Given the description of an element on the screen output the (x, y) to click on. 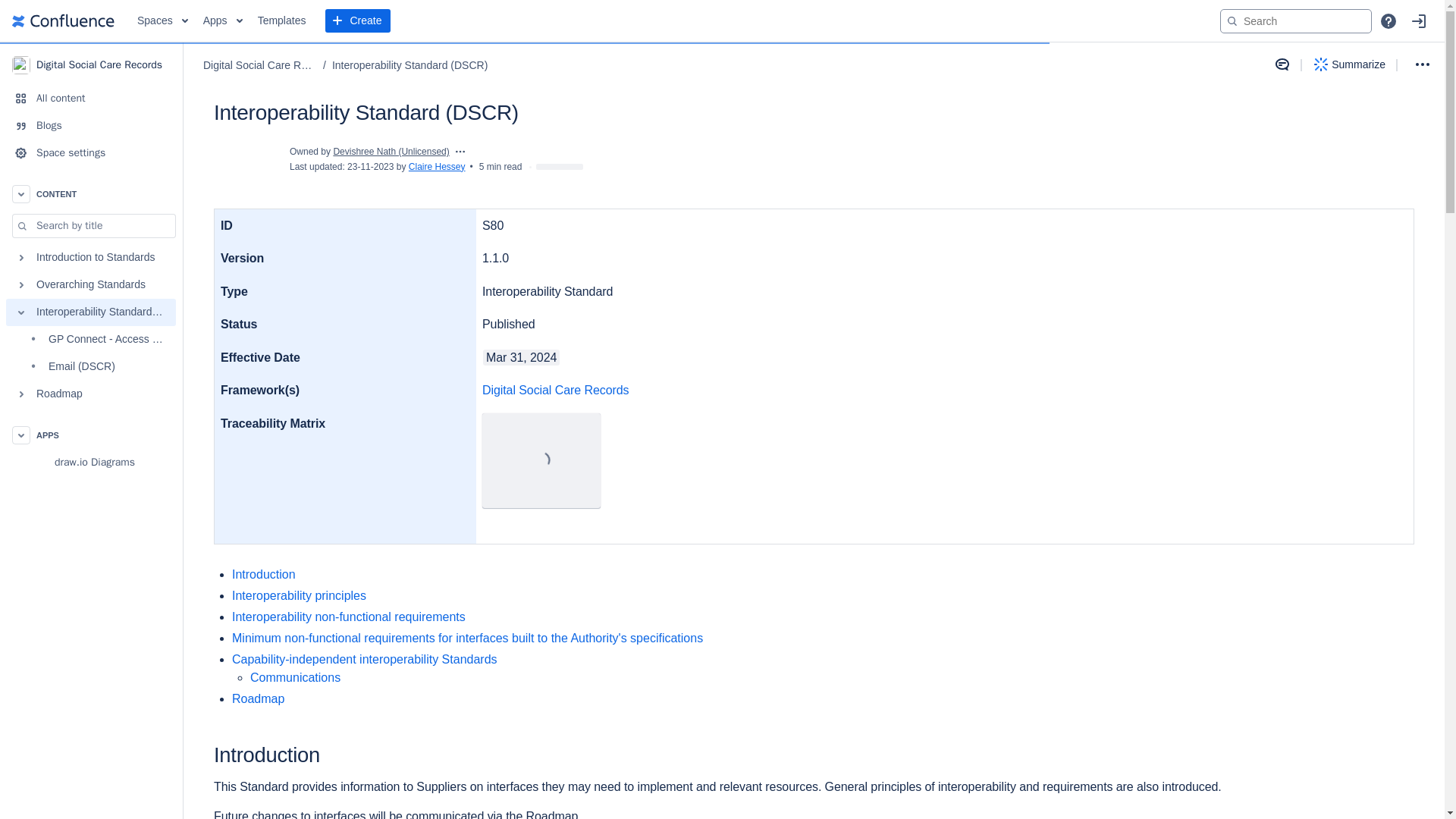
Digital Social Care Records (260, 64)
draw.io Diagrams (90, 461)
CONTENT (90, 194)
Space settings (90, 153)
Summarize (1349, 64)
Digital Social Care Records (554, 390)
Digital Social Care Records (90, 64)
APPS (90, 434)
Blogs (90, 125)
Roadmap (90, 393)
Introduction (263, 574)
Apps (222, 21)
All content (90, 98)
Claire Hessey (437, 166)
Introduction to Standards (90, 257)
